Given the description of an element on the screen output the (x, y) to click on. 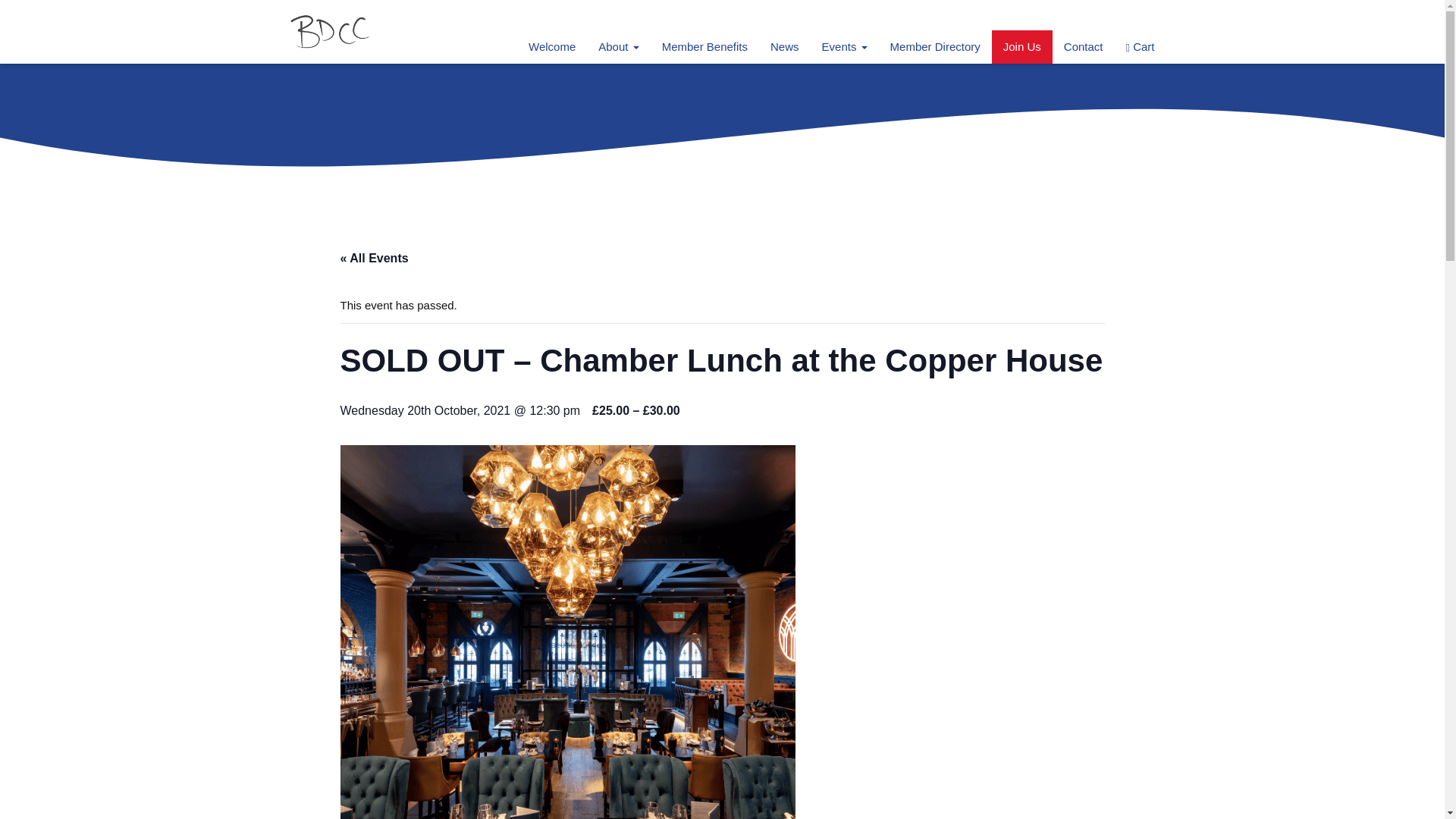
Welcome (551, 46)
Cart (1140, 46)
About (617, 46)
News (784, 46)
Welcome (551, 46)
Events (844, 46)
Member Benefits (704, 46)
Member Directory (935, 46)
 Cart (1140, 46)
About (617, 46)
Contact (1083, 46)
News (784, 46)
Contact (1083, 46)
Member Benefits (704, 46)
Join Us (1021, 46)
